Given the description of an element on the screen output the (x, y) to click on. 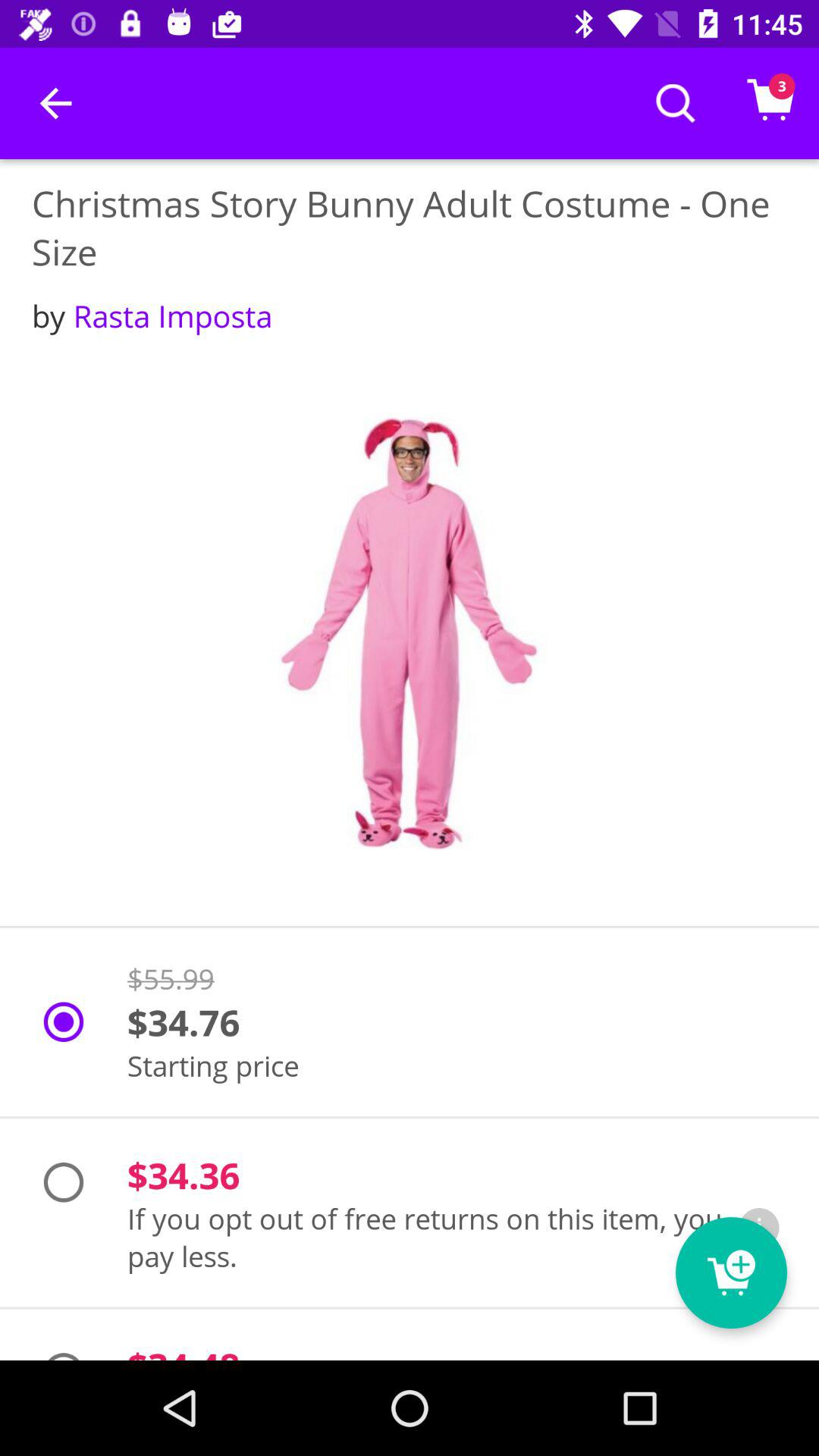
view image (409, 633)
